Given the description of an element on the screen output the (x, y) to click on. 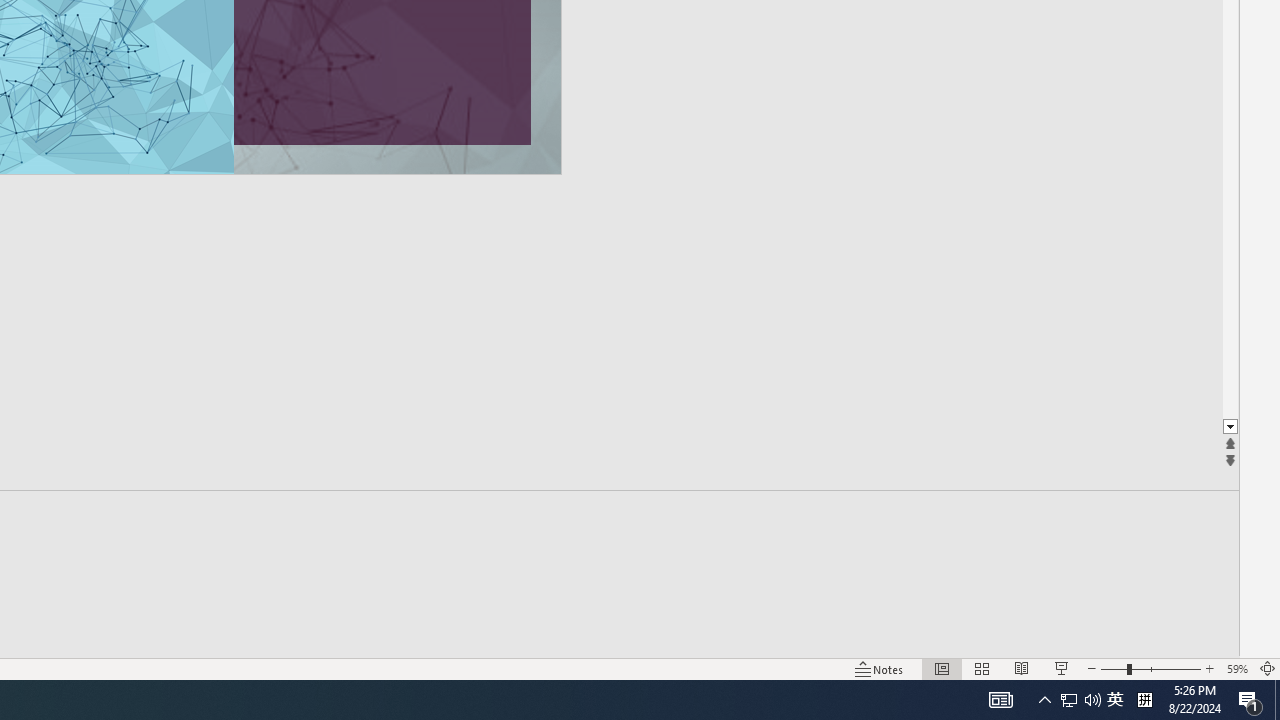
Zoom 59% (1236, 668)
